Given the description of an element on the screen output the (x, y) to click on. 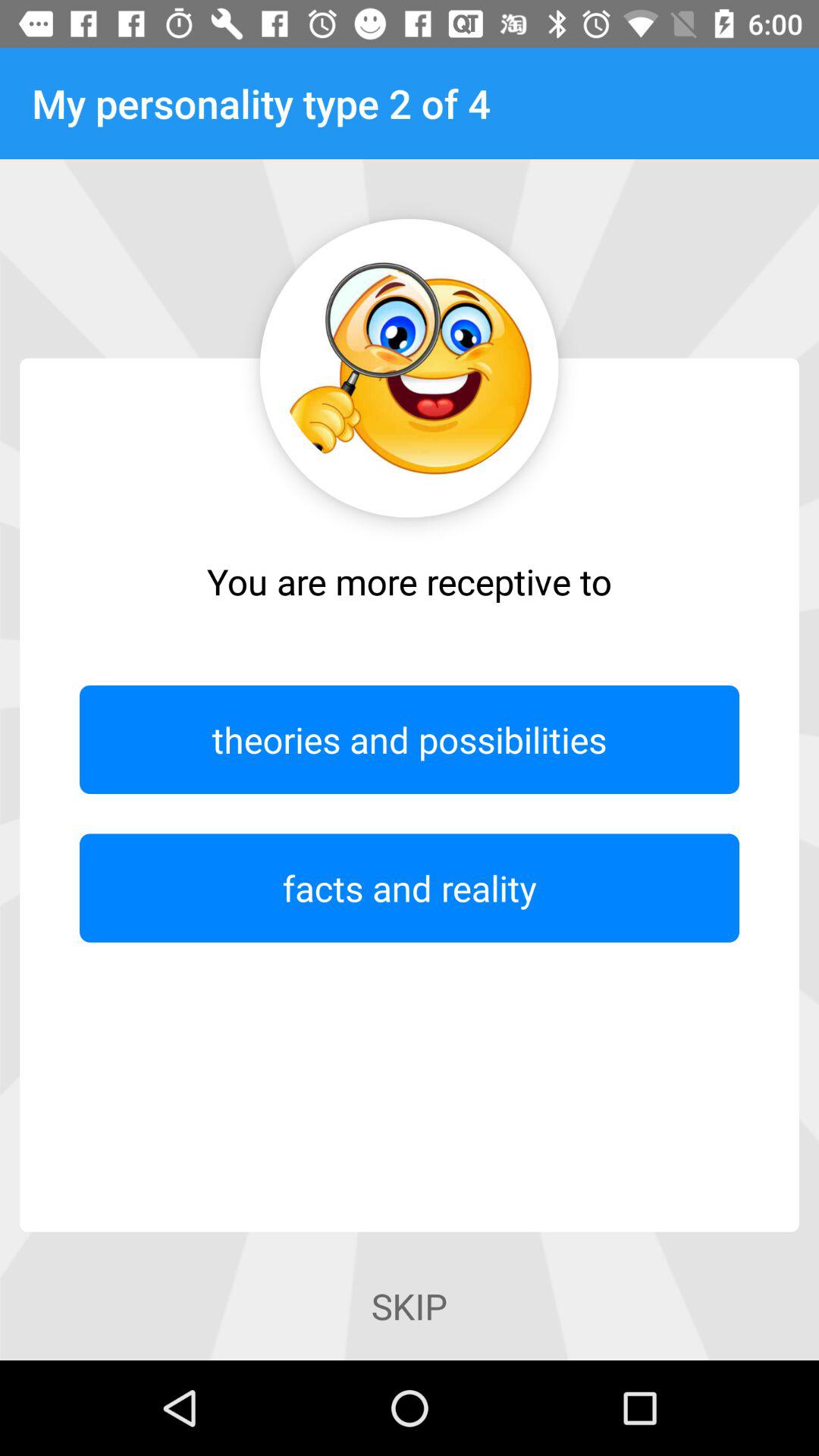
click item below the you are more (409, 739)
